Given the description of an element on the screen output the (x, y) to click on. 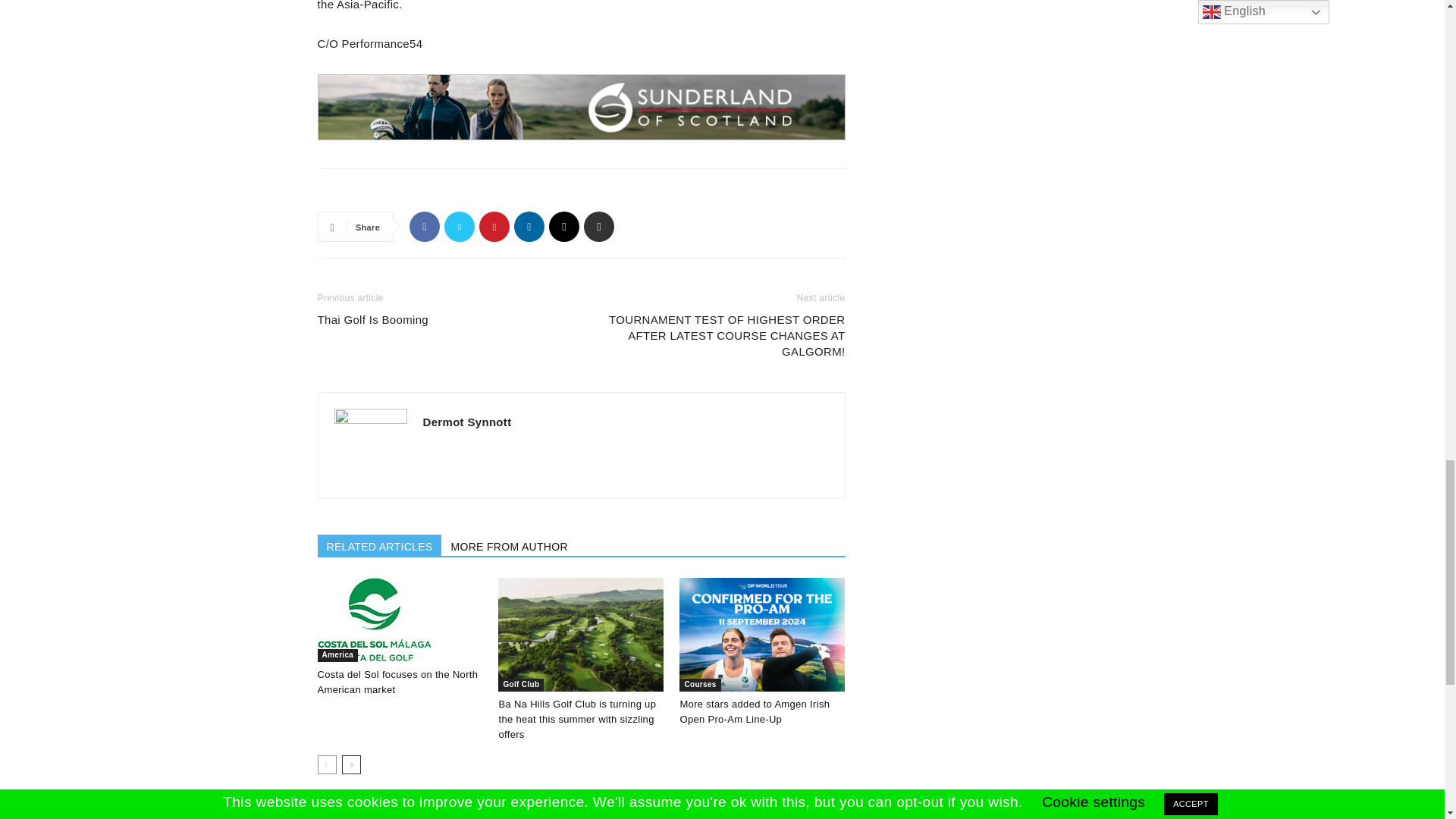
Costa del Sol focuses on the North American market (399, 619)
Costa del Sol focuses on the North American market (397, 682)
Costa del Sol focuses on the North American market (373, 619)
